Given the description of an element on the screen output the (x, y) to click on. 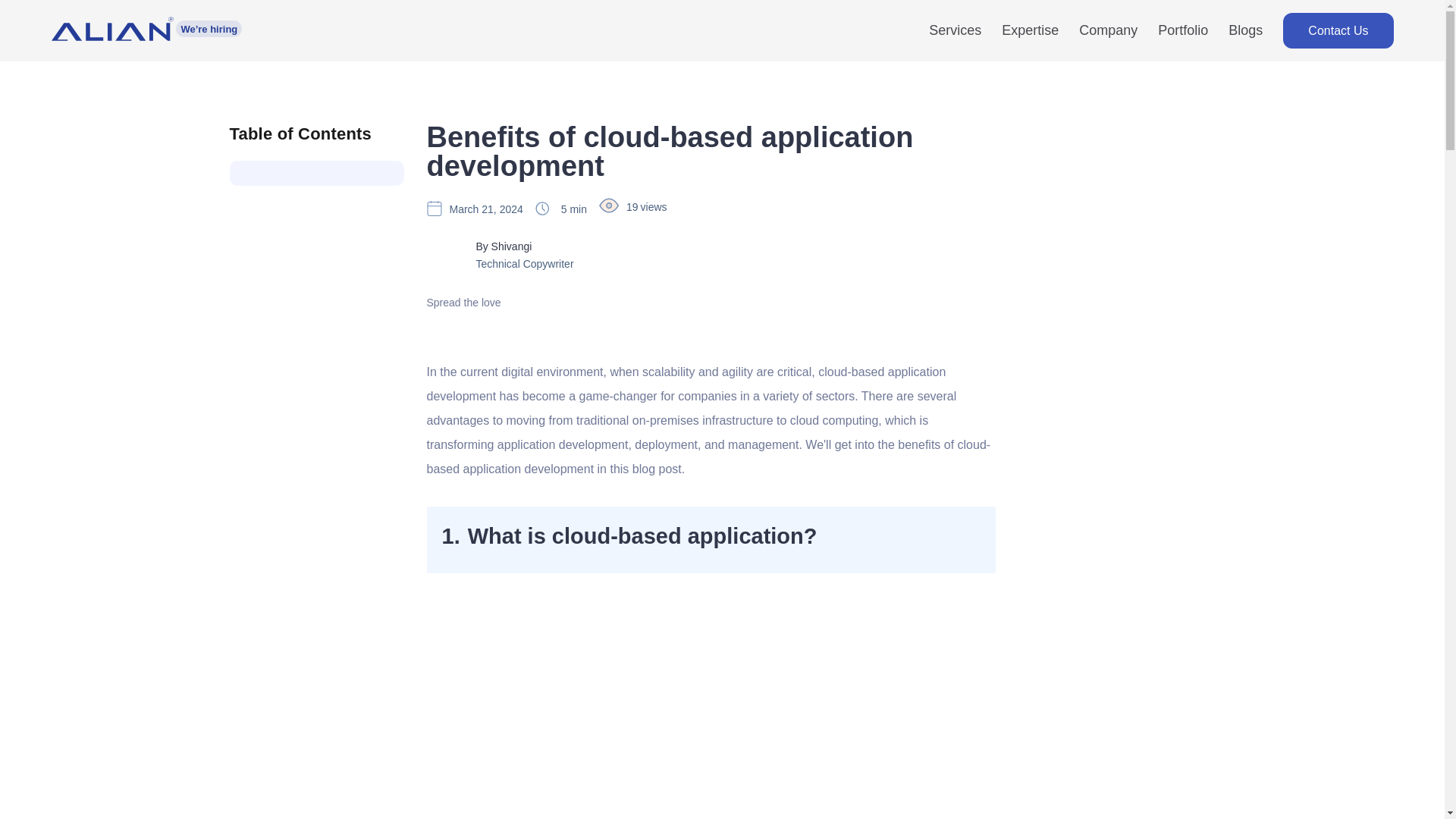
Blogs (1245, 36)
Services (954, 36)
Portfolio (1182, 36)
Company (1107, 36)
Expertise (1029, 36)
Contact Us (1337, 30)
